Given the description of an element on the screen output the (x, y) to click on. 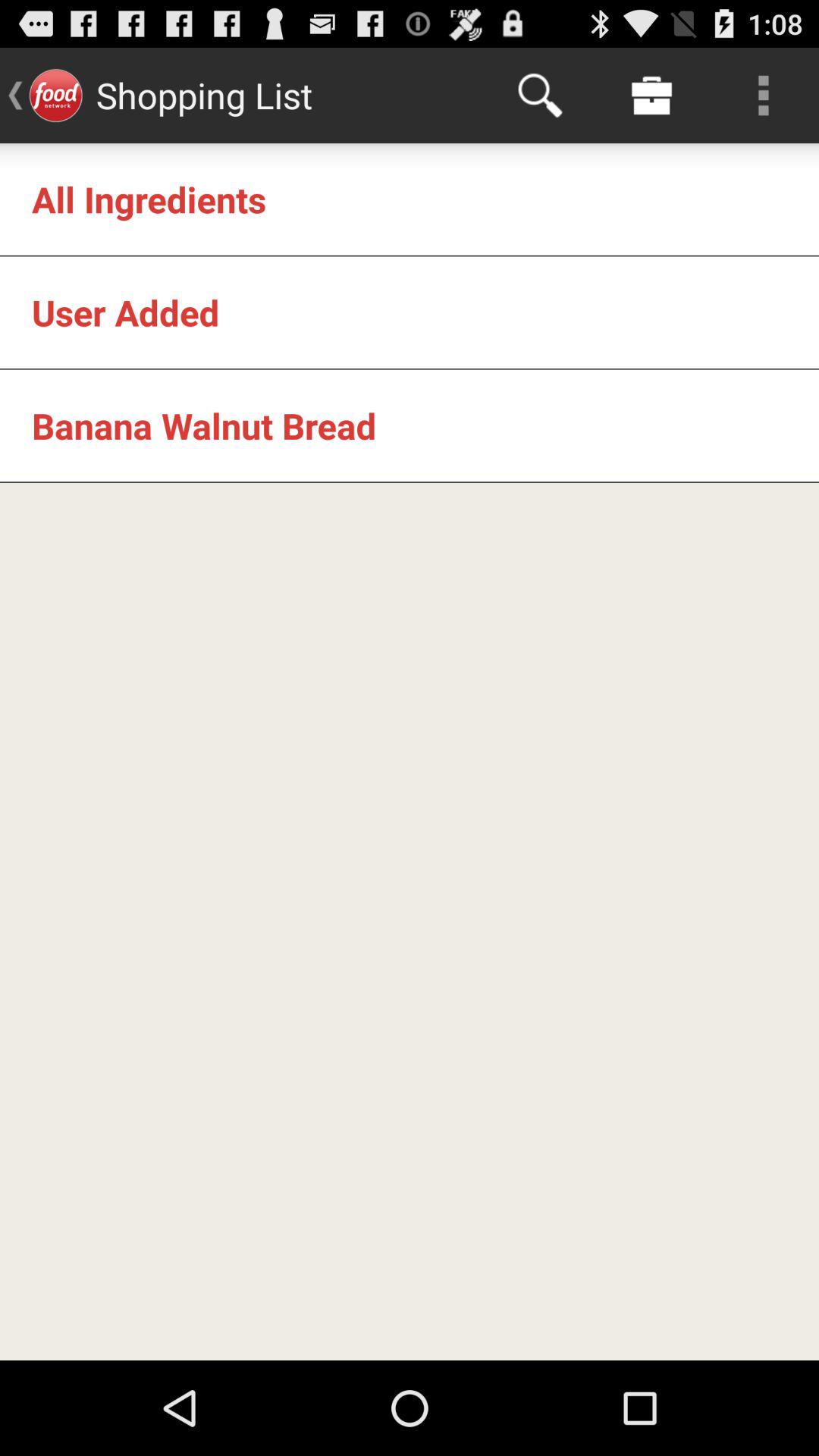
press the icon above banana walnut bread icon (125, 312)
